Given the description of an element on the screen output the (x, y) to click on. 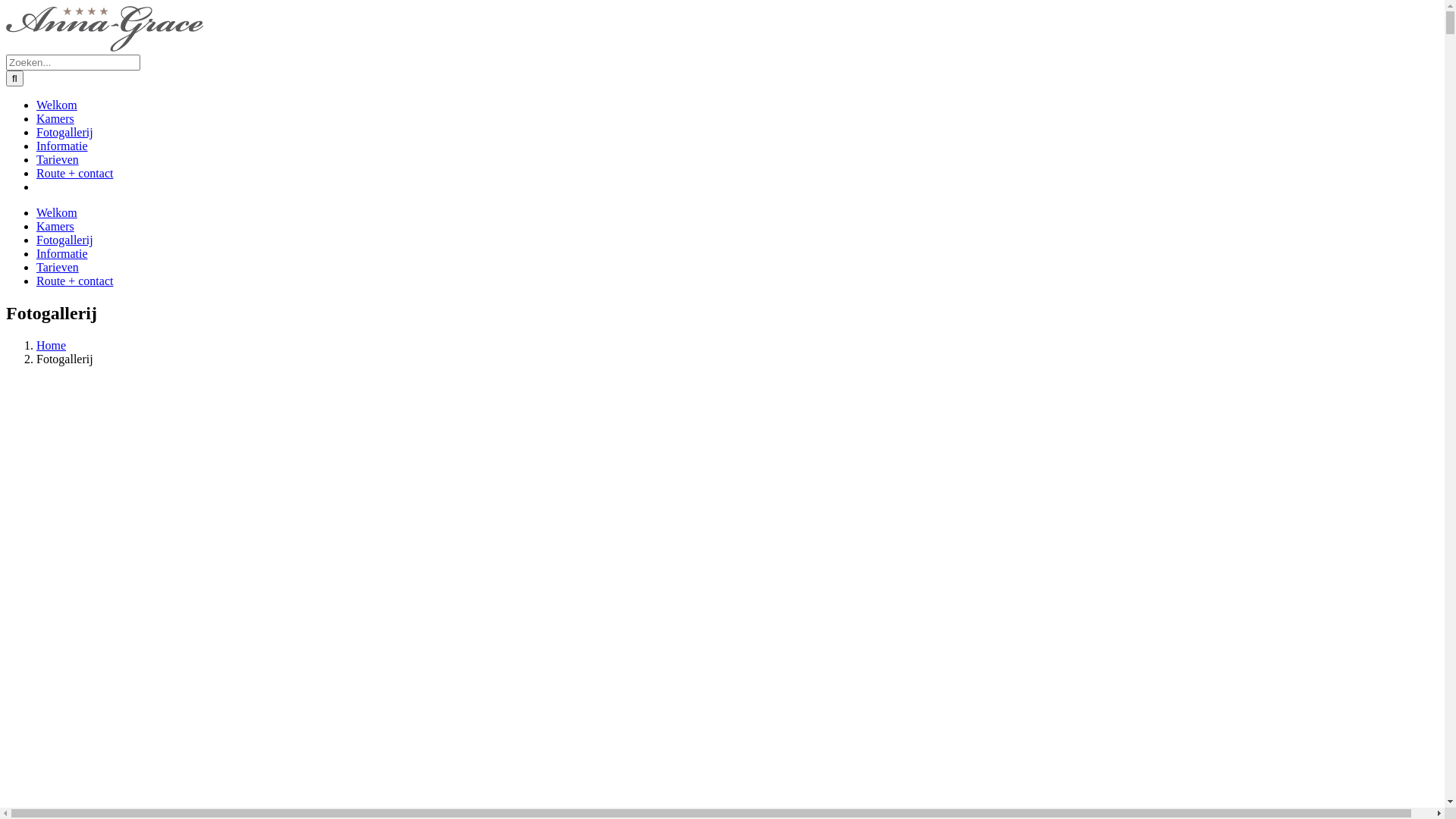
Informatie Element type: text (61, 145)
Fotogallerij Element type: text (64, 239)
Route + contact Element type: text (74, 280)
Fotogallerij Element type: text (64, 131)
Ga naar inhoud Element type: text (5, 5)
Tarieven Element type: text (57, 159)
Informatie Element type: text (61, 253)
Route + contact Element type: text (74, 172)
Kamers Element type: text (55, 118)
Welkom Element type: text (56, 212)
Tarieven Element type: text (57, 266)
Kamers Element type: text (55, 225)
Welkom Element type: text (56, 104)
Home Element type: text (50, 344)
